Given the description of an element on the screen output the (x, y) to click on. 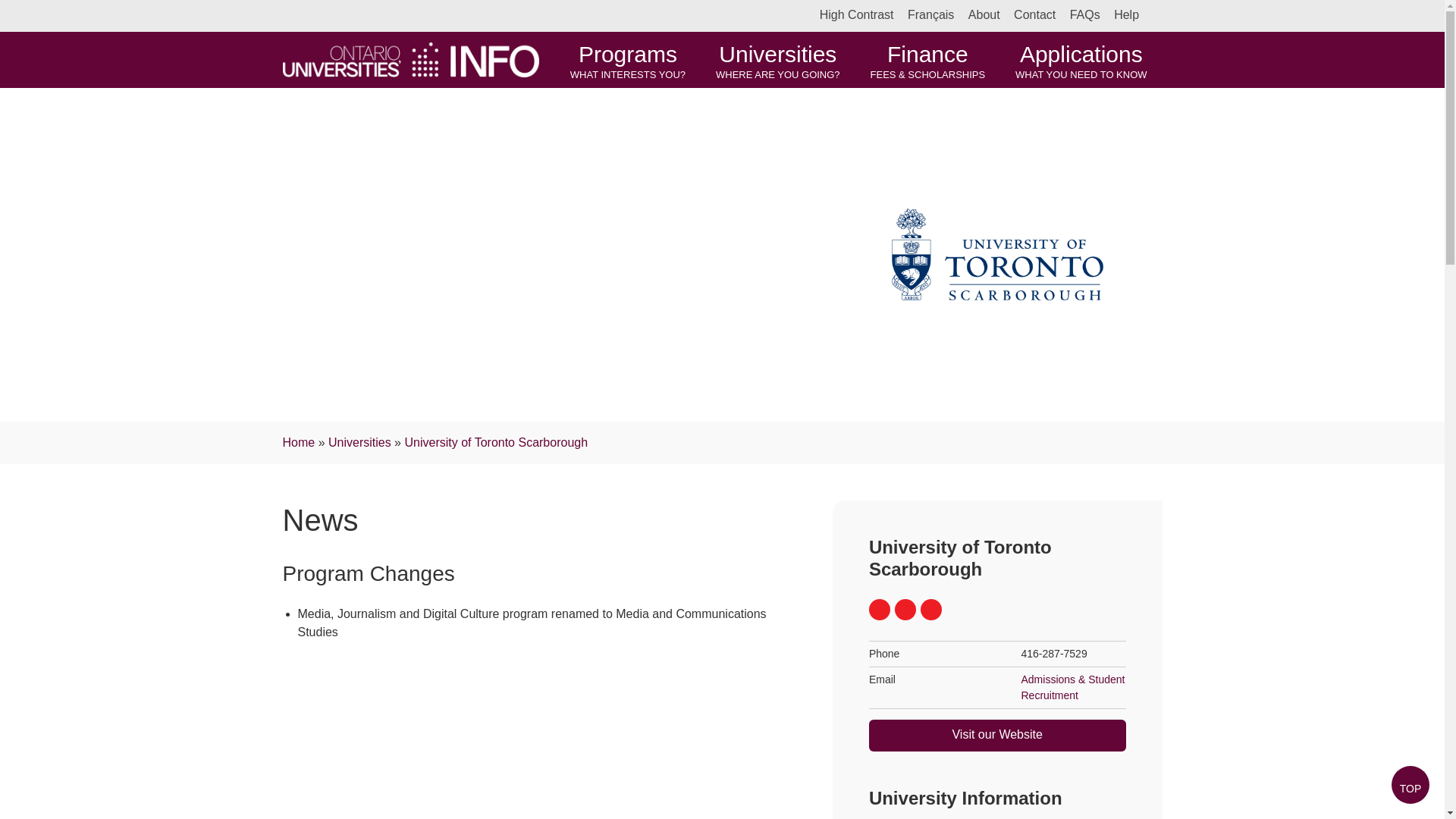
About (984, 14)
Universities (777, 59)
Tiktok (360, 441)
University of Toronto Scarborough (931, 608)
Opens in a new window (960, 558)
Contact (997, 735)
FAQs (1034, 14)
Facebook (1085, 14)
Skip to content (879, 608)
